Given the description of an element on the screen output the (x, y) to click on. 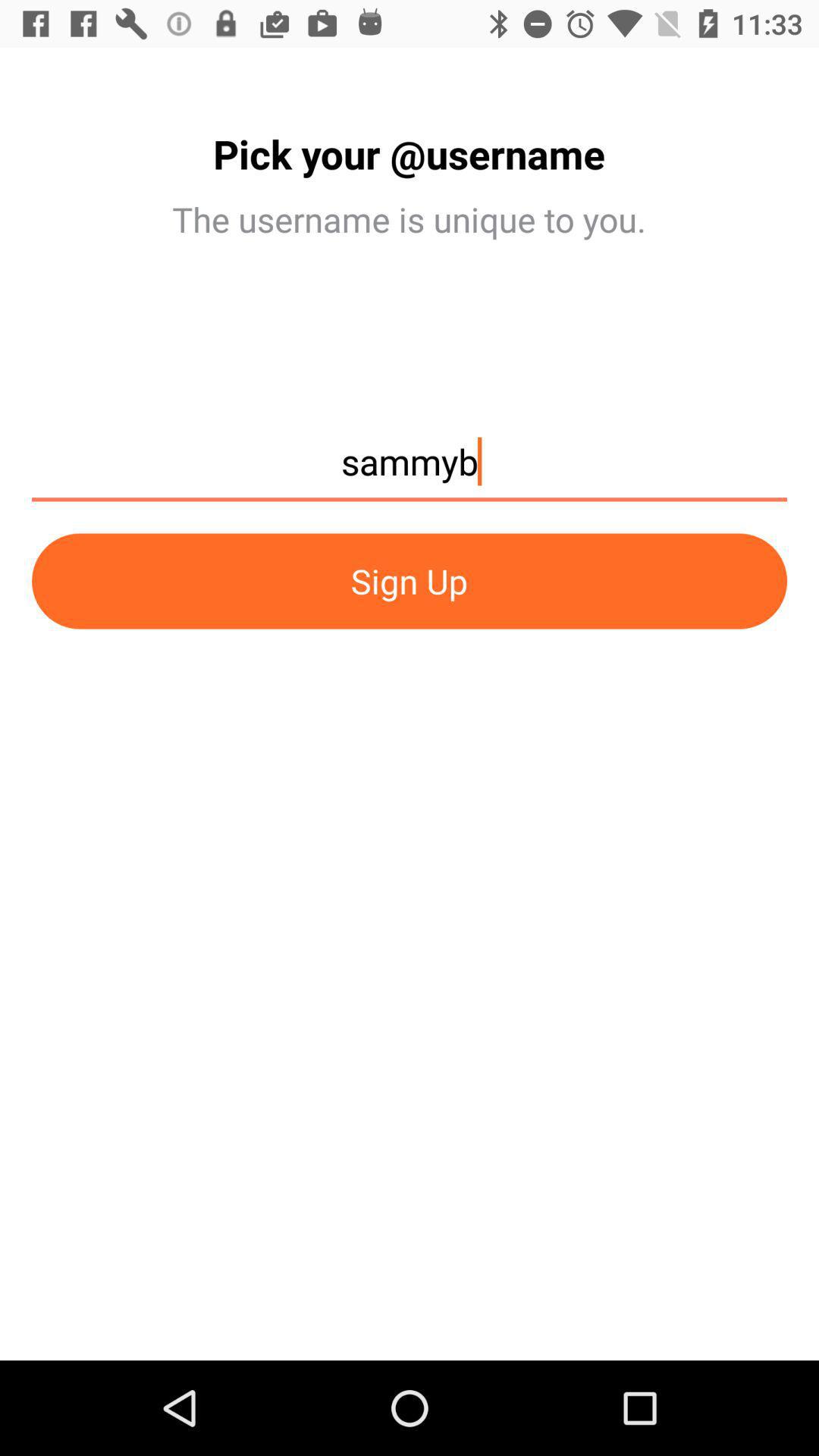
swipe to sammyb (409, 469)
